Given the description of an element on the screen output the (x, y) to click on. 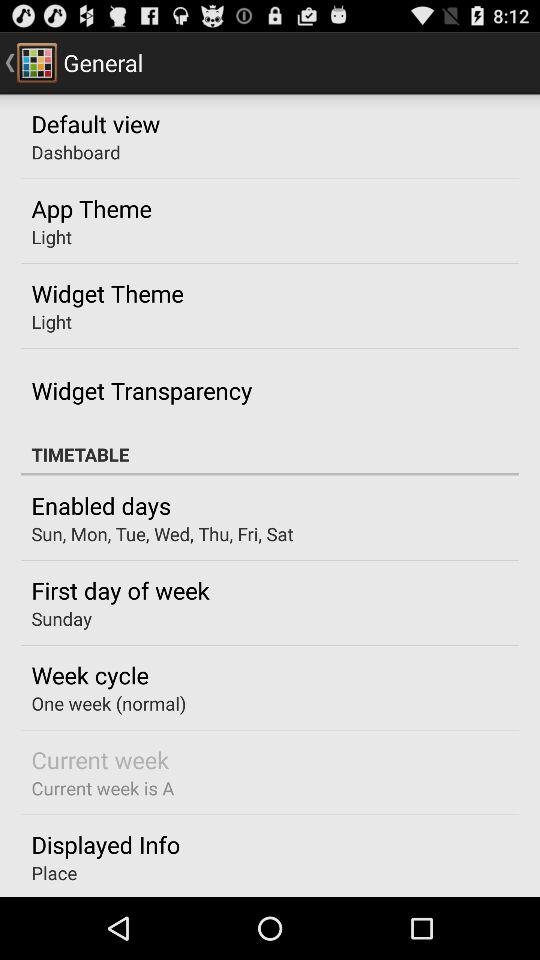
jump to the enabled days app (100, 505)
